Given the description of an element on the screen output the (x, y) to click on. 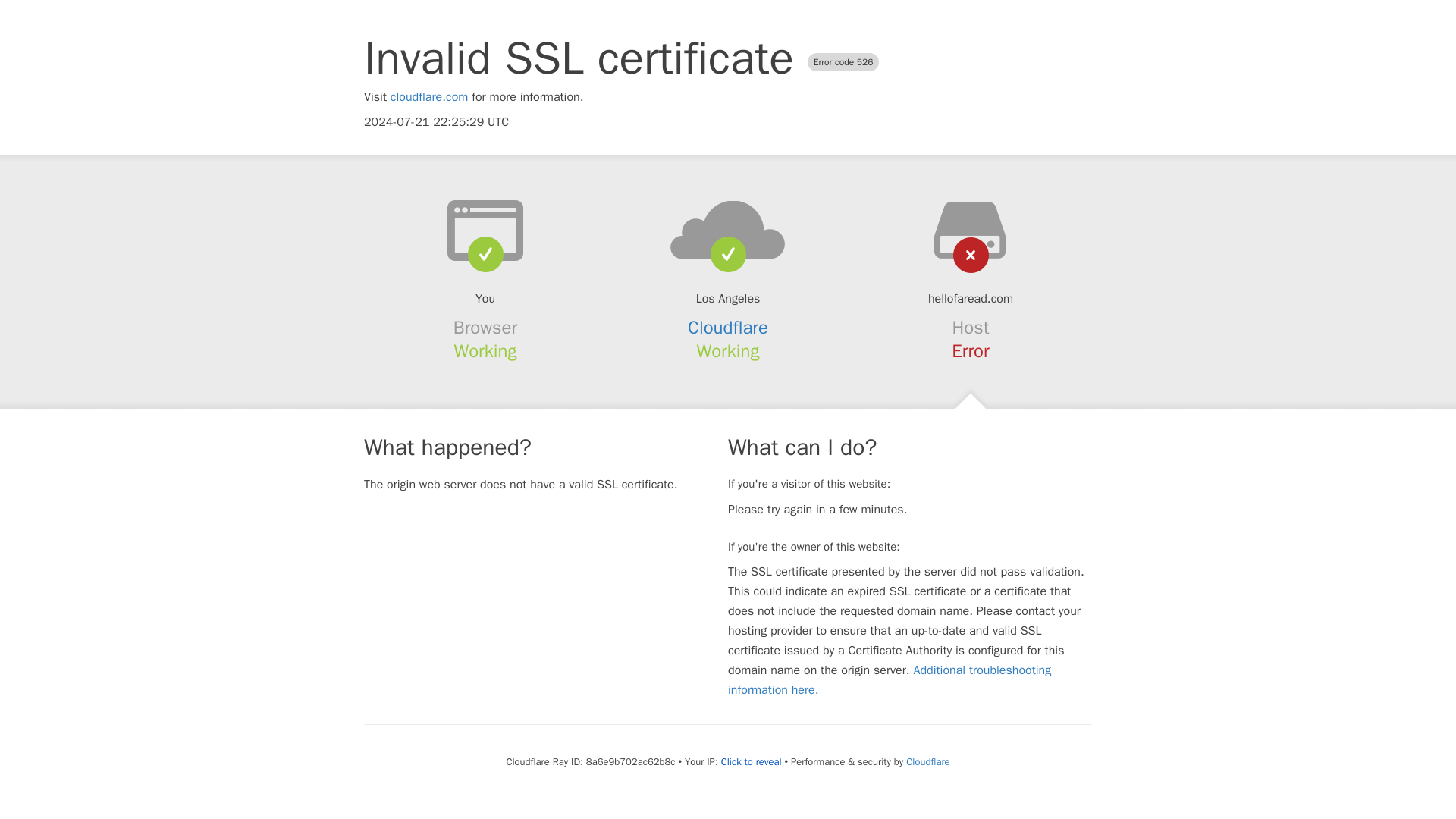
Additional troubleshooting information here. (889, 679)
Cloudflare (727, 327)
Cloudflare (927, 761)
Click to reveal (750, 762)
cloudflare.com (429, 96)
